Given the description of an element on the screen output the (x, y) to click on. 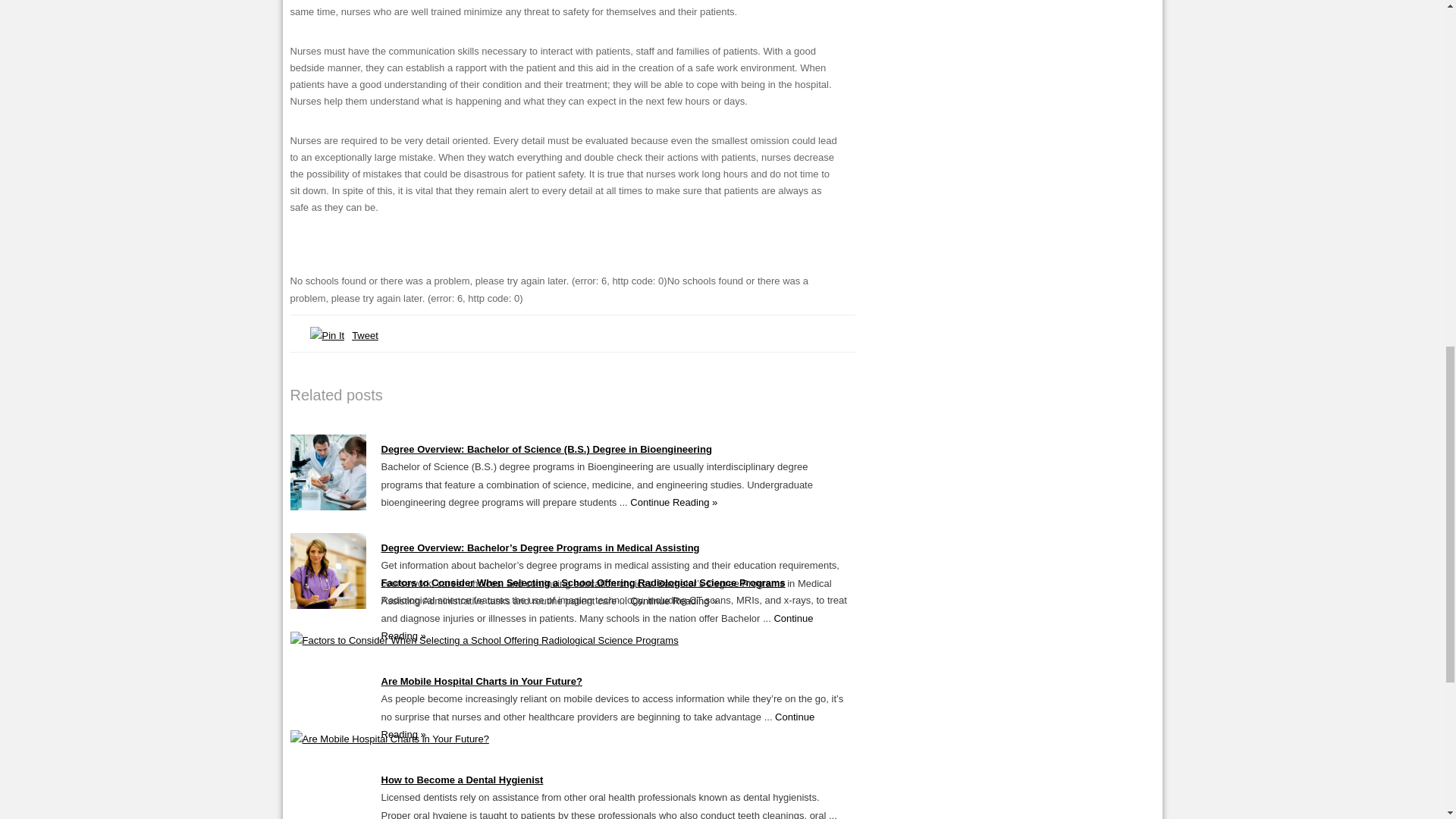
Are Mobile Hospital Charts in Your Future? (388, 738)
Tweet (365, 335)
Pin It (325, 334)
